Given the description of an element on the screen output the (x, y) to click on. 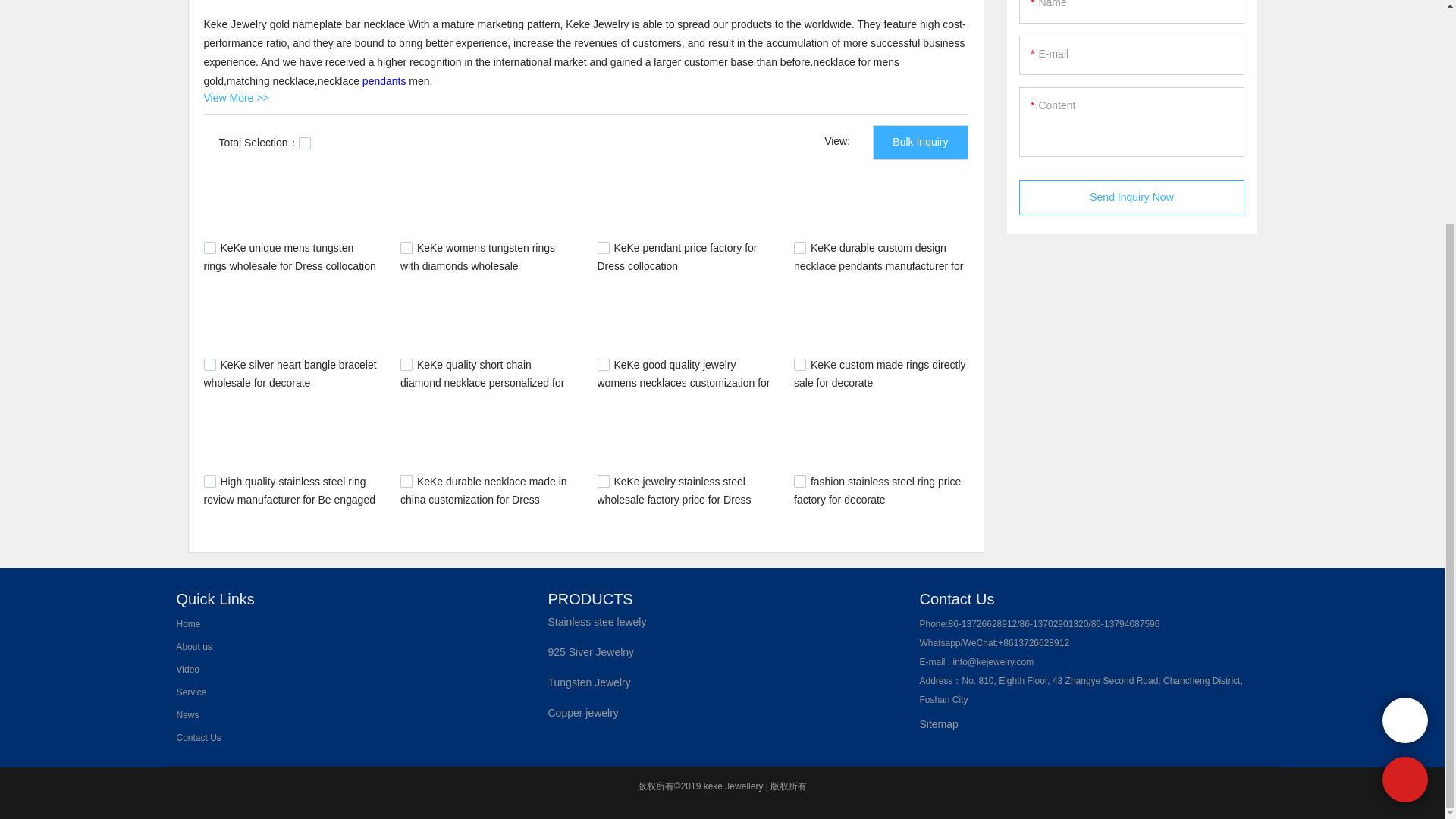
KeKe silver heart bangle bracelet wholesale for decorate (289, 373)
4629 (406, 364)
KeKe pendant price factory for Dress collocation (676, 256)
fashion stainless steel ring price factory for decorate (876, 490)
4574 (209, 481)
4762 (406, 247)
4608 (603, 364)
3793 (799, 481)
KeKe womens tungsten rings with diamonds wholesale (477, 256)
3958 (406, 481)
3841 (603, 481)
4771 (209, 247)
